Given the description of an element on the screen output the (x, y) to click on. 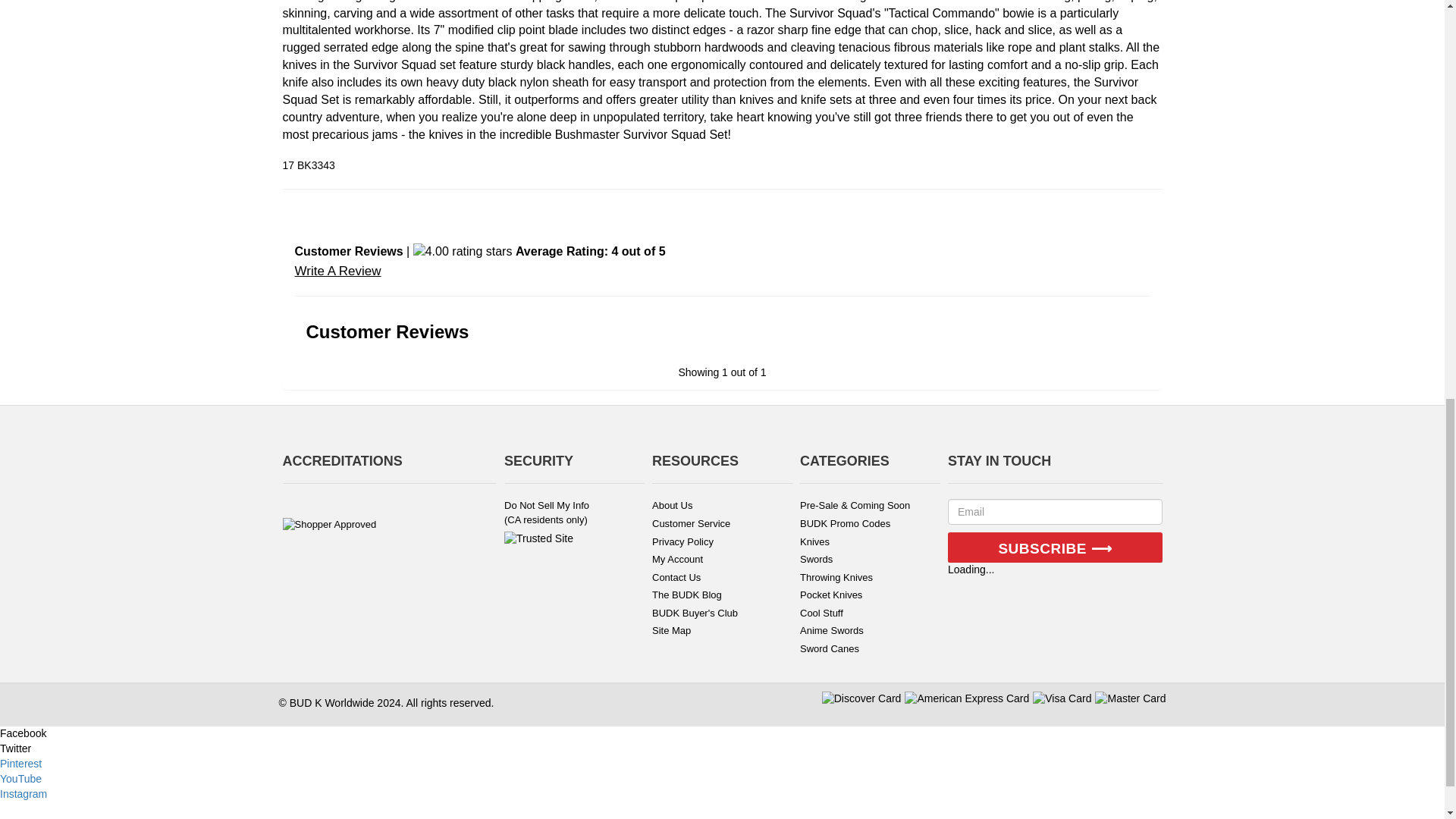
View TrustedSite Certification (538, 538)
